Given the description of an element on the screen output the (x, y) to click on. 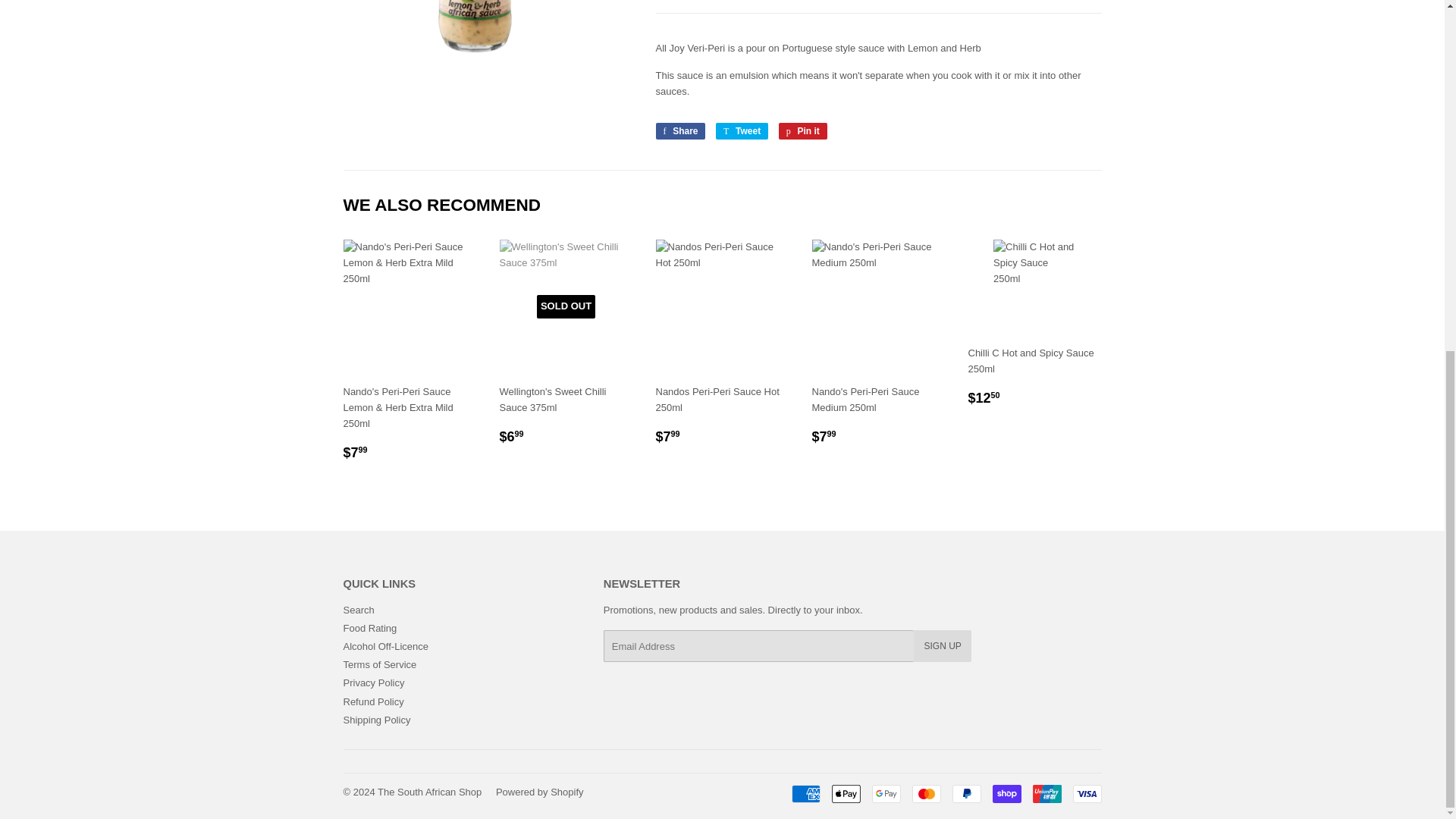
Apple Pay (845, 793)
PayPal (966, 793)
Mastercard (925, 793)
Visa (1085, 793)
Tweet on Twitter (742, 130)
Pin on Pinterest (802, 130)
Share on Facebook (679, 130)
Union Pay (1046, 793)
American Express (806, 793)
Google Pay (886, 793)
Shop Pay (1005, 793)
